Given the description of an element on the screen output the (x, y) to click on. 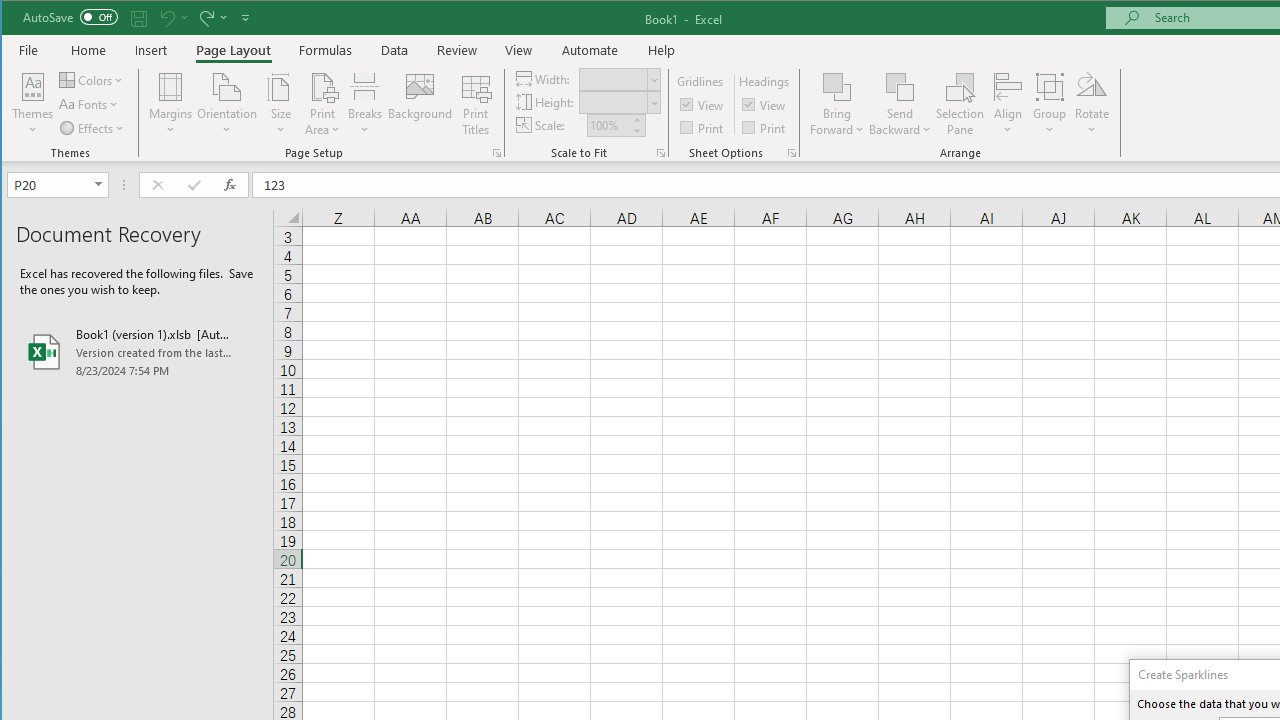
Automate (589, 50)
Colors (93, 80)
Height (612, 102)
System (19, 18)
Print Titles (475, 104)
View (518, 50)
Bring Forward (836, 104)
Quick Access Toolbar (137, 17)
Sheet Options (791, 152)
Undo (166, 17)
Send Backward (900, 104)
